Given the description of an element on the screen output the (x, y) to click on. 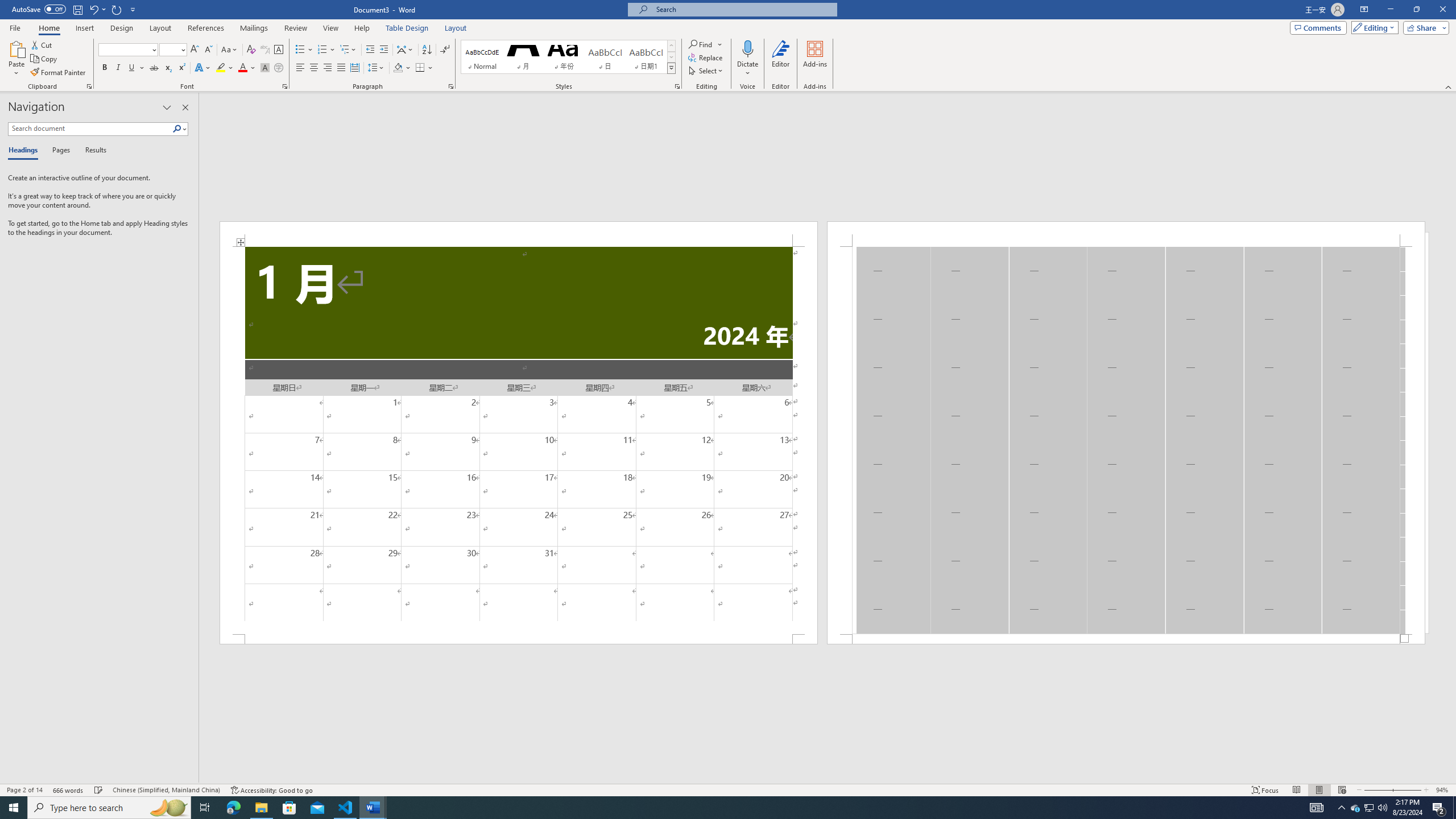
Web Layout (1342, 790)
Text Highlight Color (224, 67)
Shrink Font (208, 49)
Page 2 content (1126, 439)
Ribbon Display Options (1364, 9)
Undo Apply Quick Style (92, 9)
Spelling and Grammar Check No Errors (98, 790)
Align Right (327, 67)
Strikethrough (154, 67)
Open (182, 49)
Review (295, 28)
